Given the description of an element on the screen output the (x, y) to click on. 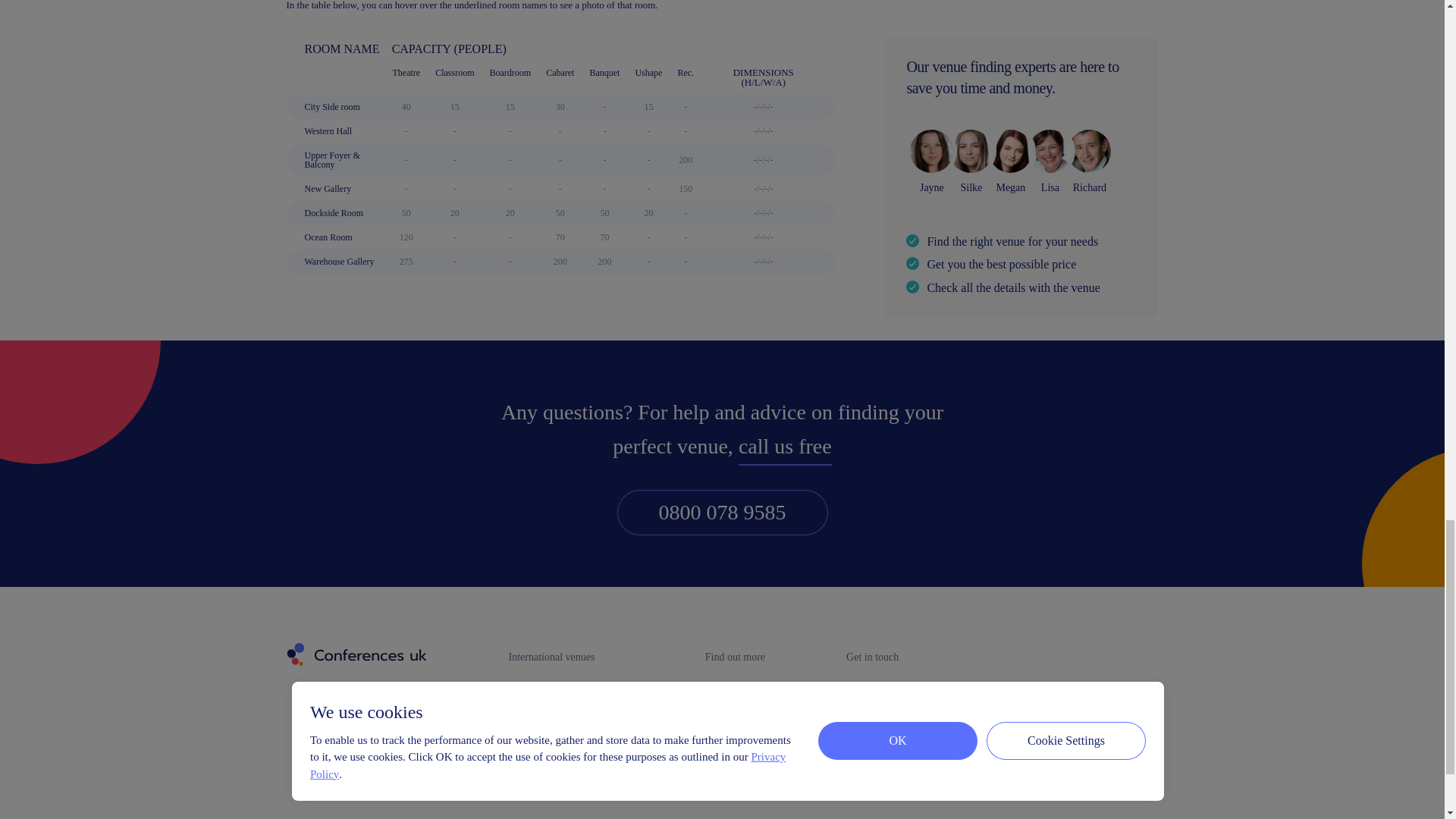
Advertise (887, 721)
Conferences UK (354, 655)
Contact us (887, 750)
Make an enquiry (887, 692)
Blog (738, 778)
Testimonials (738, 750)
About us (738, 721)
How it works (738, 692)
0800 078 9585 (722, 512)
